Given the description of an element on the screen output the (x, y) to click on. 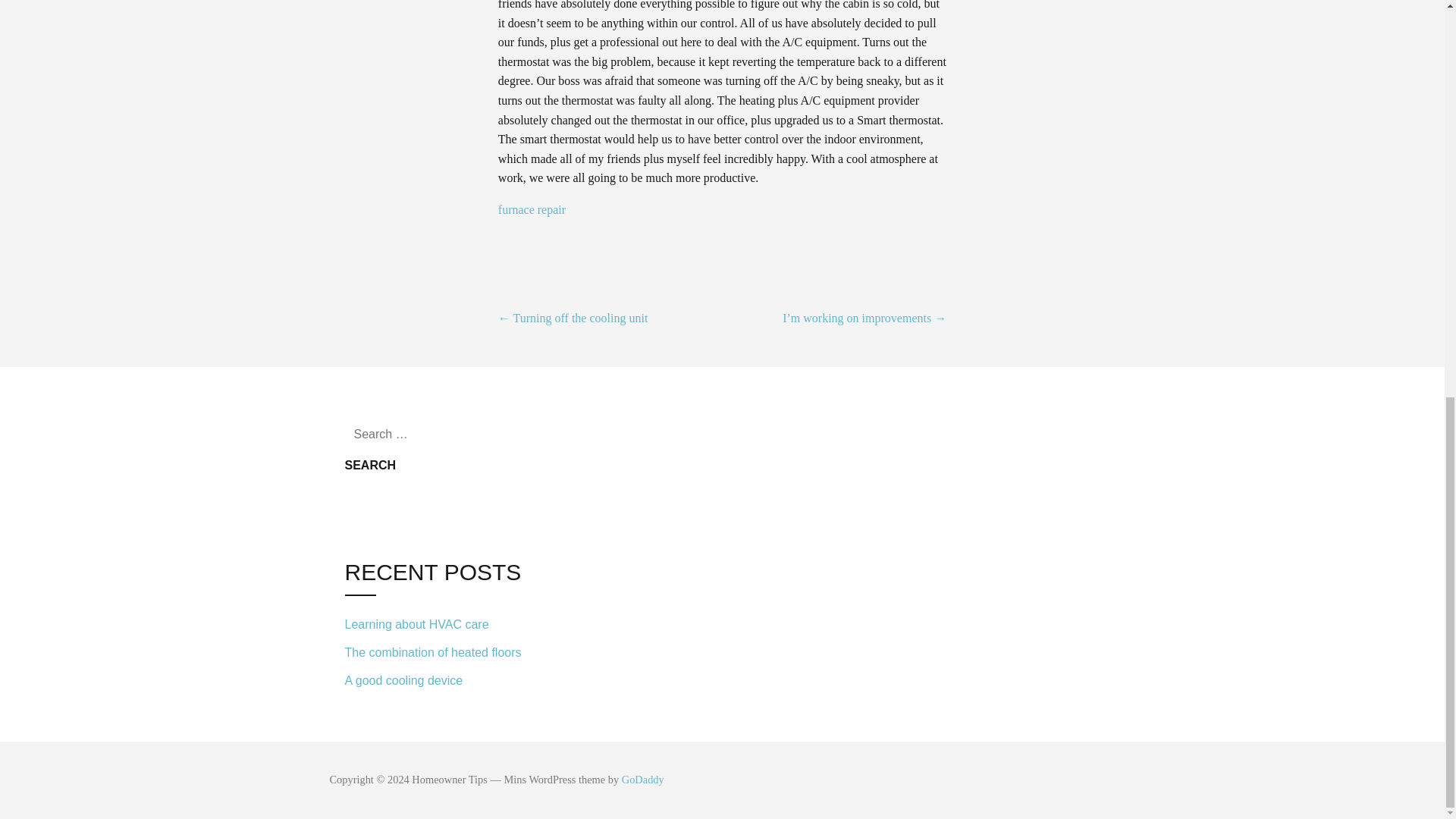
Search (369, 465)
furnace repair  (533, 209)
Learning about HVAC care (447, 624)
GoDaddy (642, 779)
Search (369, 465)
A good cooling device (447, 678)
The combination of heated floors (447, 652)
Search (369, 465)
